Given the description of an element on the screen output the (x, y) to click on. 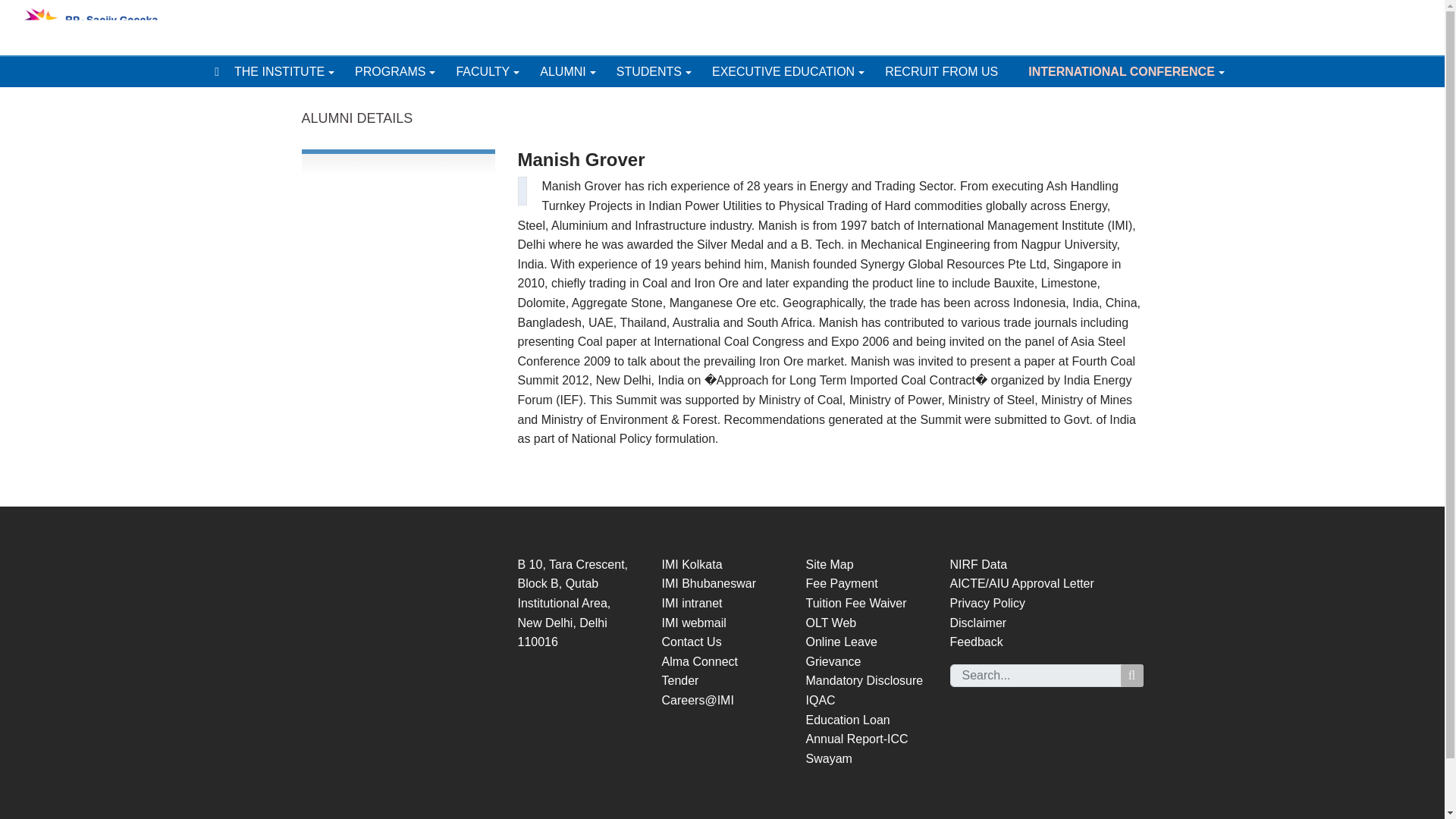
PROGRAMS (405, 71)
THE INSTITUTE (294, 71)
